Given the description of an element on the screen output the (x, y) to click on. 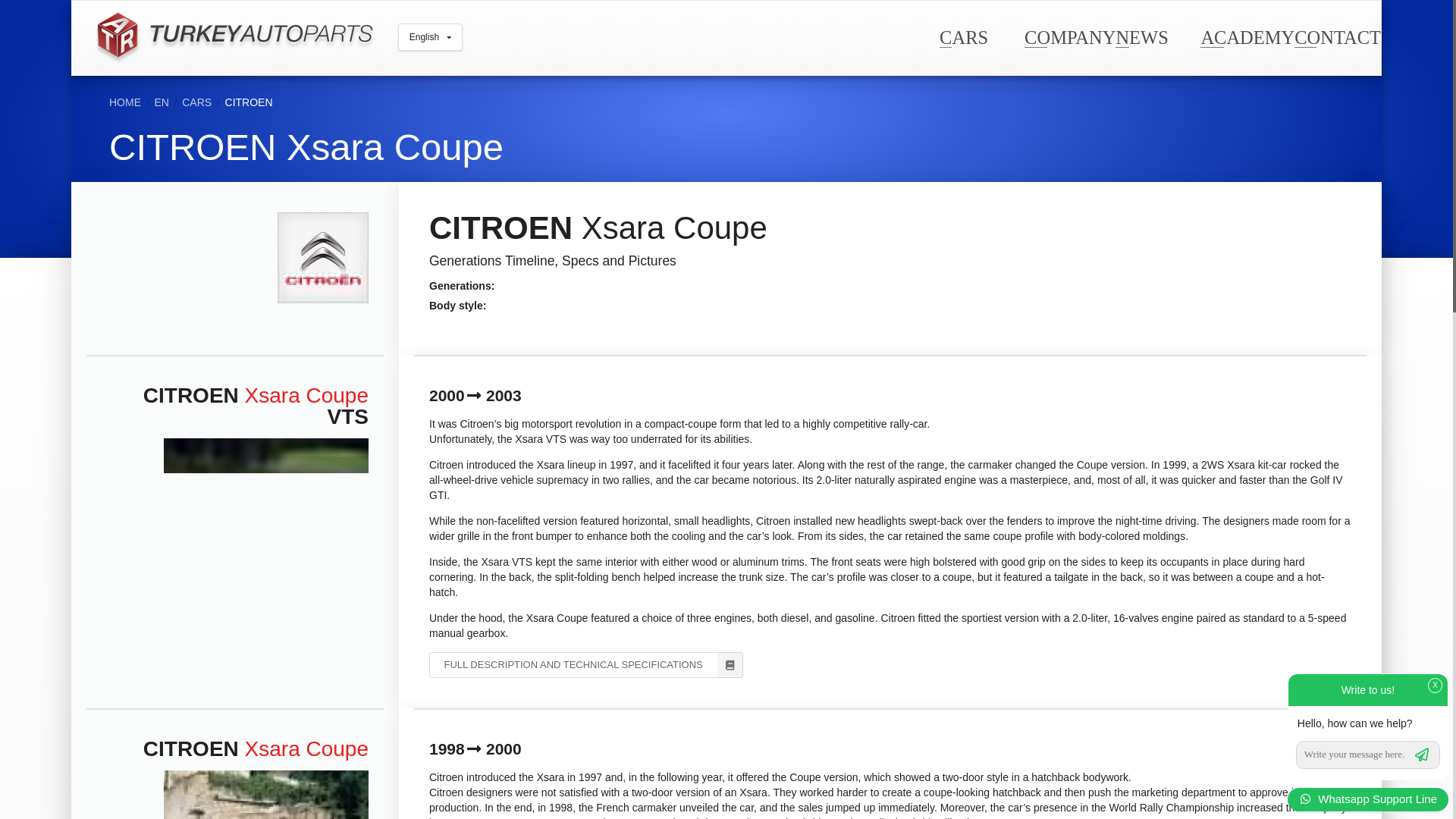
HOME (125, 102)
CARS (196, 102)
NEWS (1141, 37)
CARS (963, 37)
FULL DESCRIPTION AND TECHNICAL SPECIFICATIONS (585, 664)
ACADEMY (1246, 37)
CITROEN (249, 102)
COMPANY (1070, 37)
EN (161, 102)
CONTACT (1337, 37)
